Given the description of an element on the screen output the (x, y) to click on. 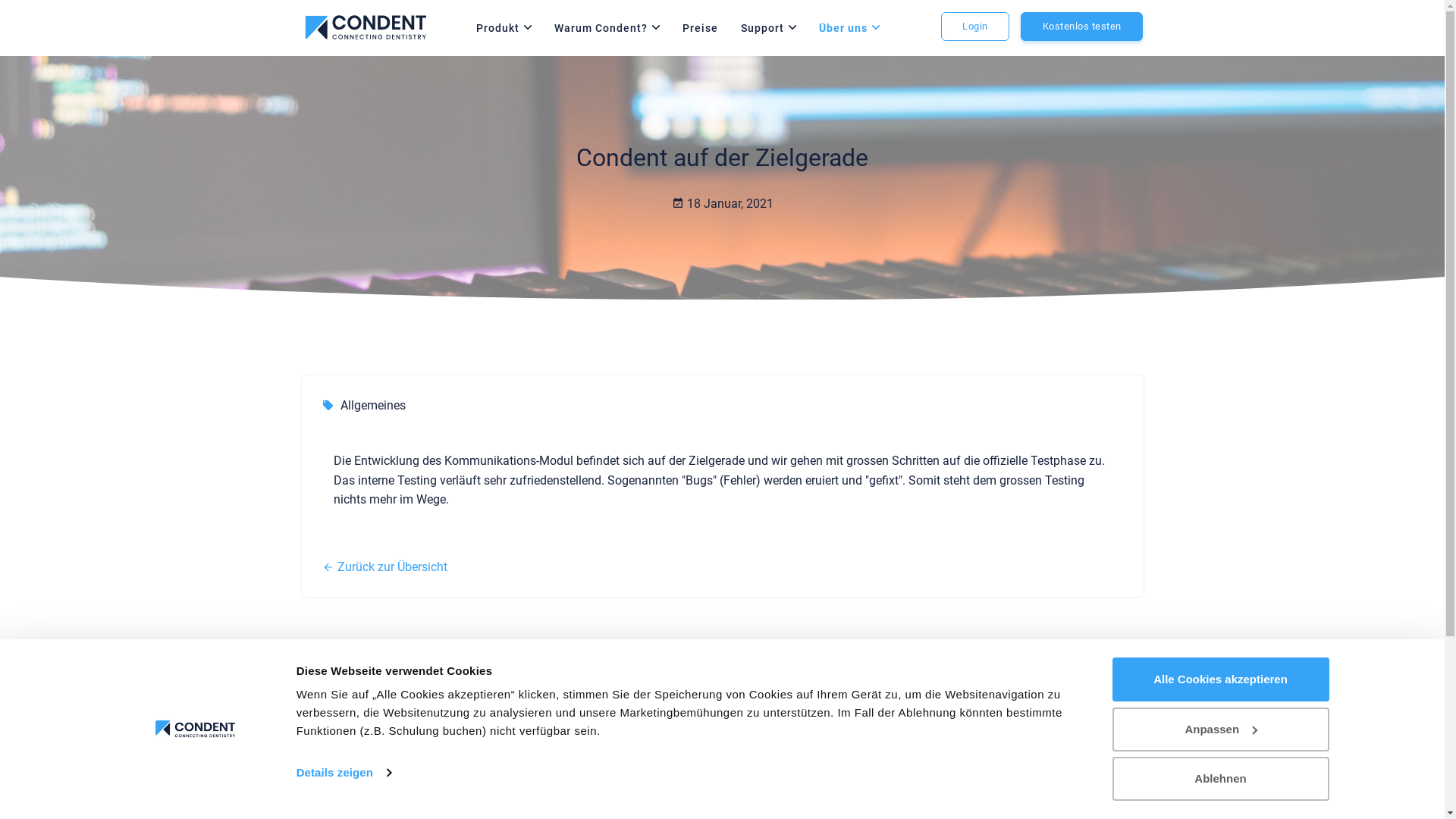
Login Element type: text (975, 26)
Ablehnen Element type: text (1219, 778)
Homepage Element type: hover (351, 731)
Condent Element type: hover (363, 27)
Alle Cookies akzeptieren Element type: text (1219, 679)
Warum Condent? Element type: text (600, 28)
Preise Element type: text (700, 28)
Startseite Element type: hover (363, 28)
Kostenlos testen Element type: text (1081, 26)
Produkt Element type: text (497, 28)
Condent Light Element type: hover (351, 733)
Bedingungen Element type: text (920, 767)
Details zeigen Element type: text (343, 772)
Support Element type: text (762, 28)
https://www.vzls.ch/partner/preferred-partners/ Element type: hover (1088, 774)
Anpassen Element type: text (1219, 728)
